Given the description of an element on the screen output the (x, y) to click on. 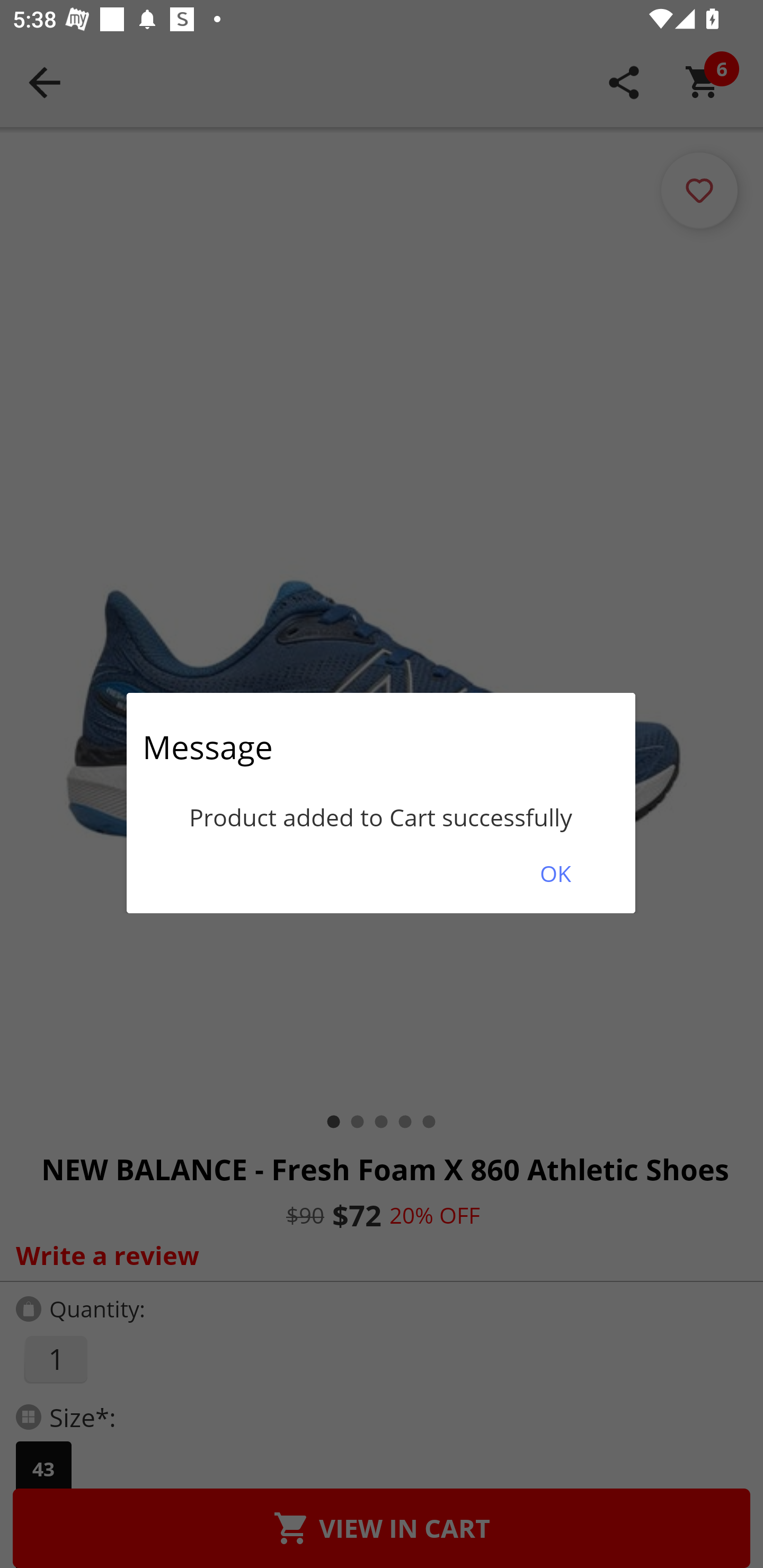
OK (555, 873)
